Given the description of an element on the screen output the (x, y) to click on. 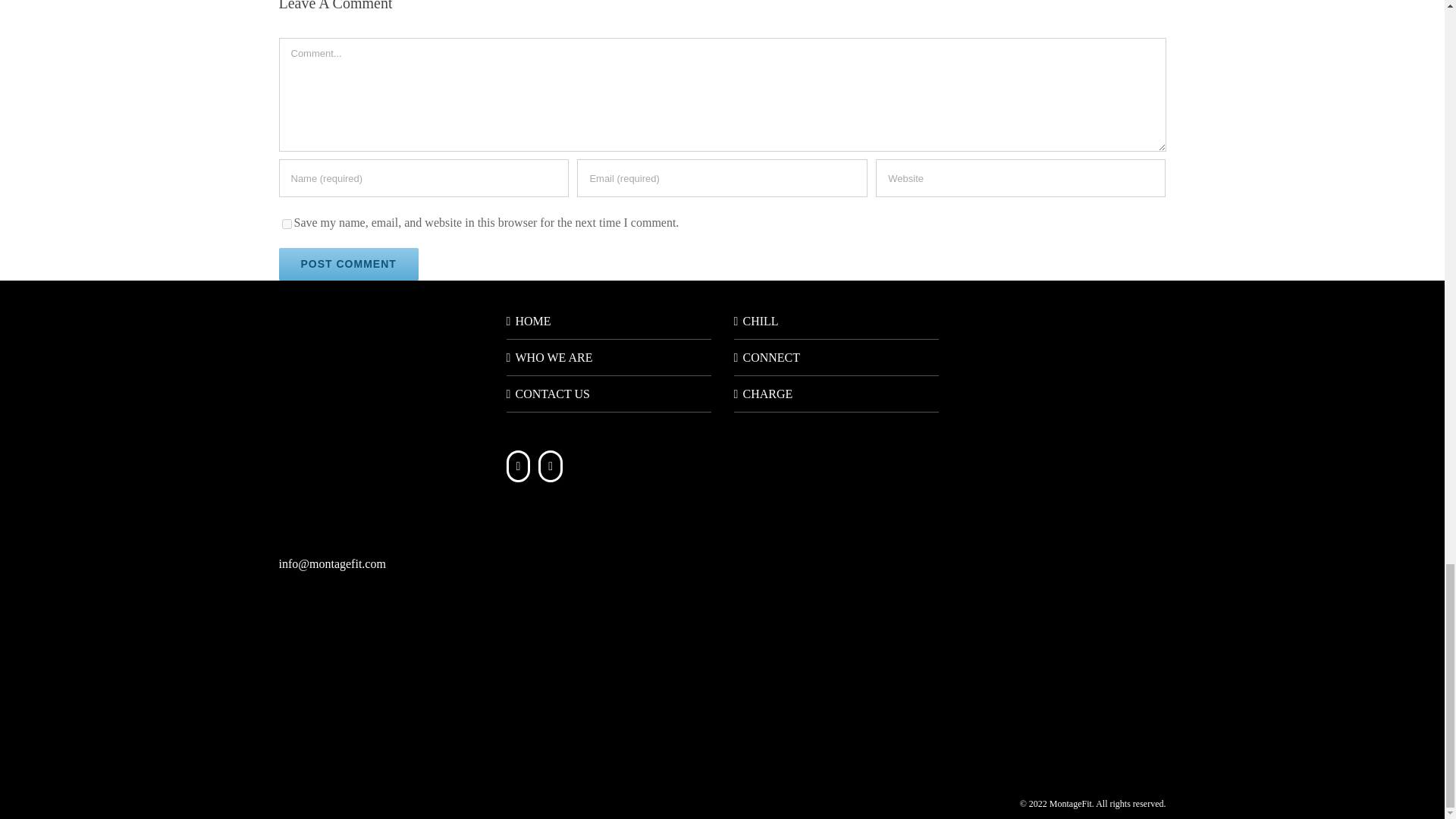
Post Comment (349, 264)
yes (287, 224)
